Given the description of an element on the screen output the (x, y) to click on. 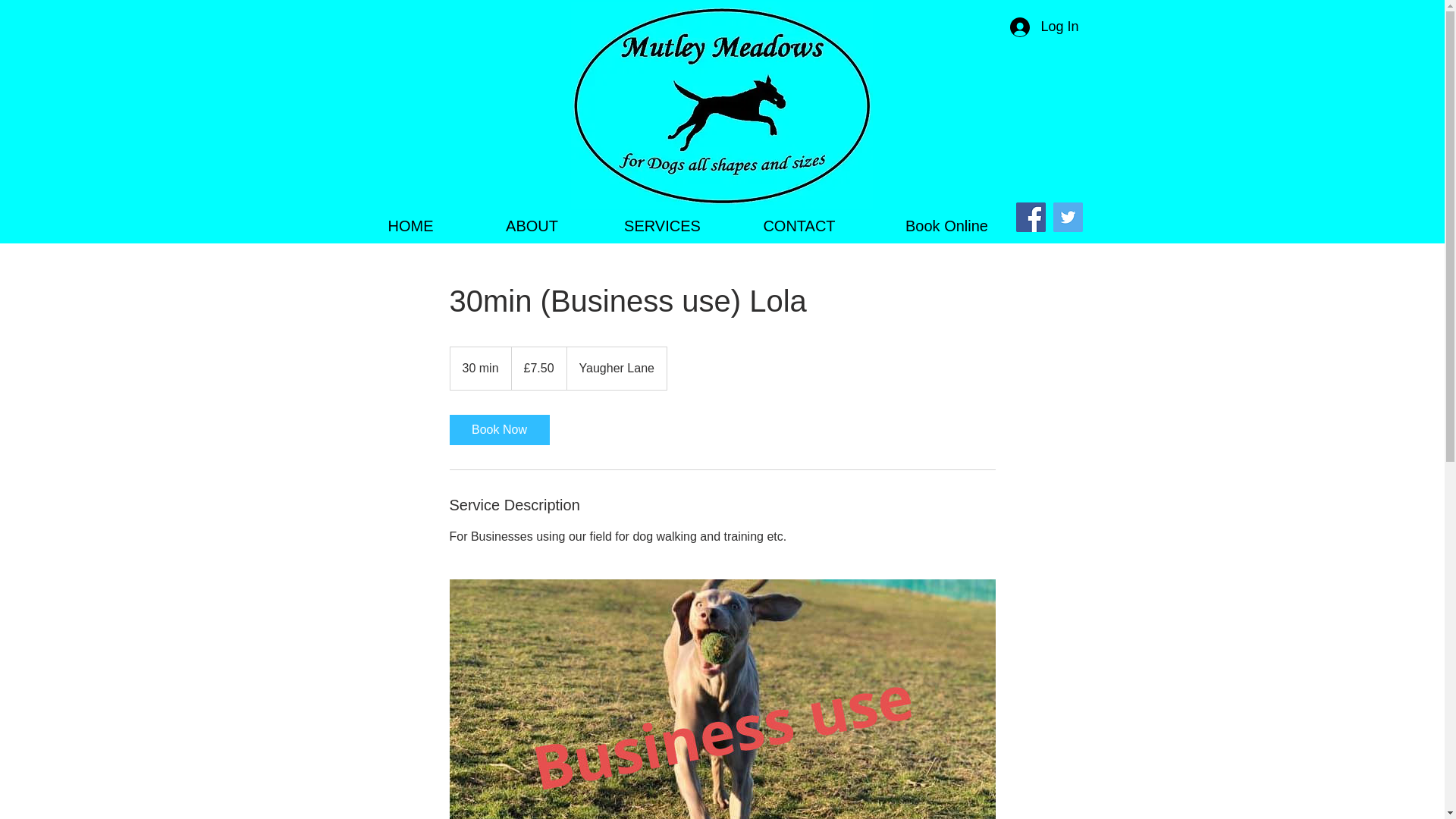
SERVICES (661, 226)
ABOUT (531, 226)
Book Now (498, 429)
Book Online (946, 226)
Log In (1043, 27)
CONTACT (798, 226)
HOME (410, 226)
